Given the description of an element on the screen output the (x, y) to click on. 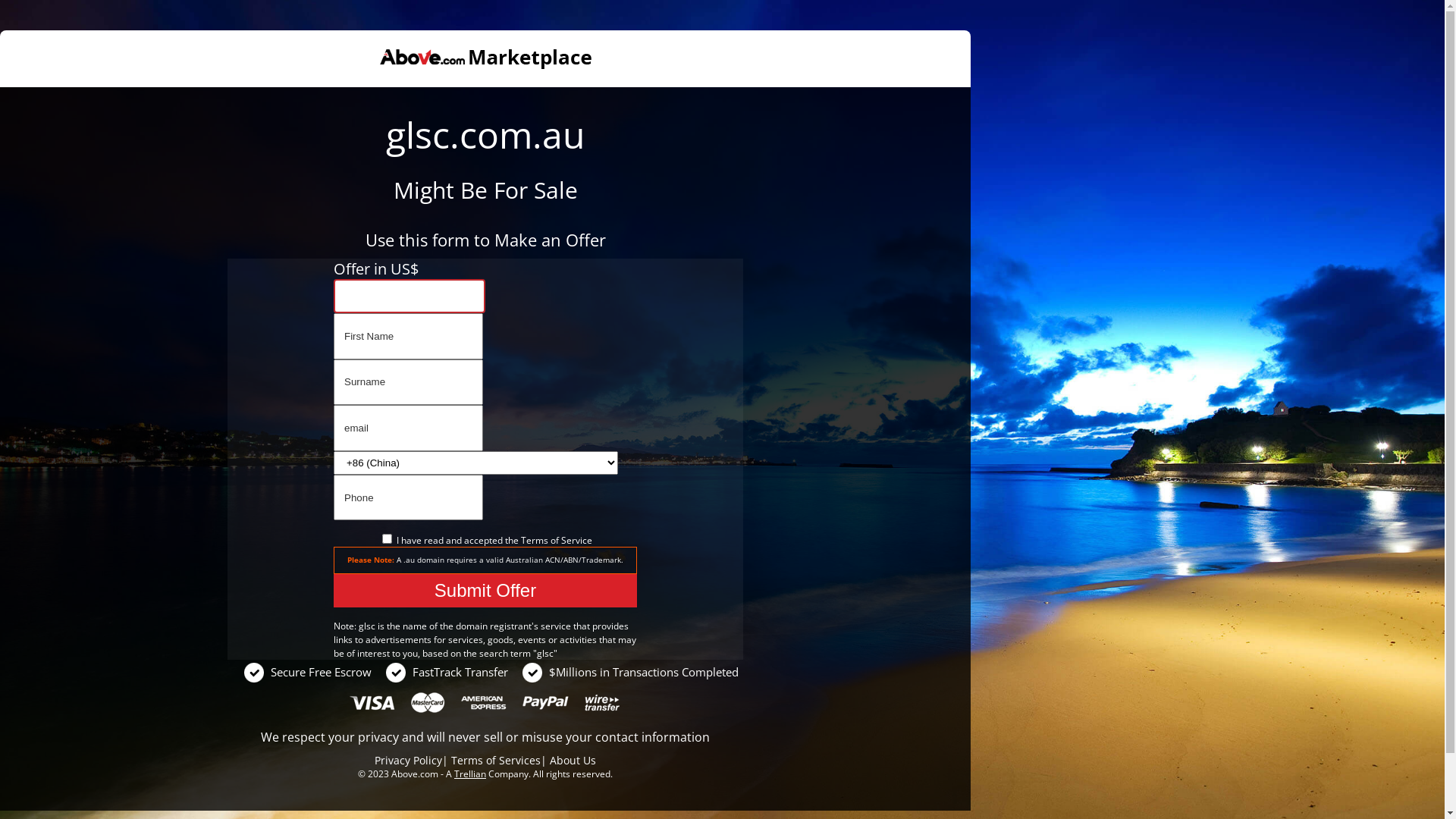
Terms Element type: text (533, 539)
About Us Element type: text (572, 760)
Trellian Element type: text (470, 773)
Terms of Services Element type: text (495, 760)
Submit Offer Element type: text (485, 590)
Privacy Policy Element type: text (408, 760)
